Given the description of an element on the screen output the (x, y) to click on. 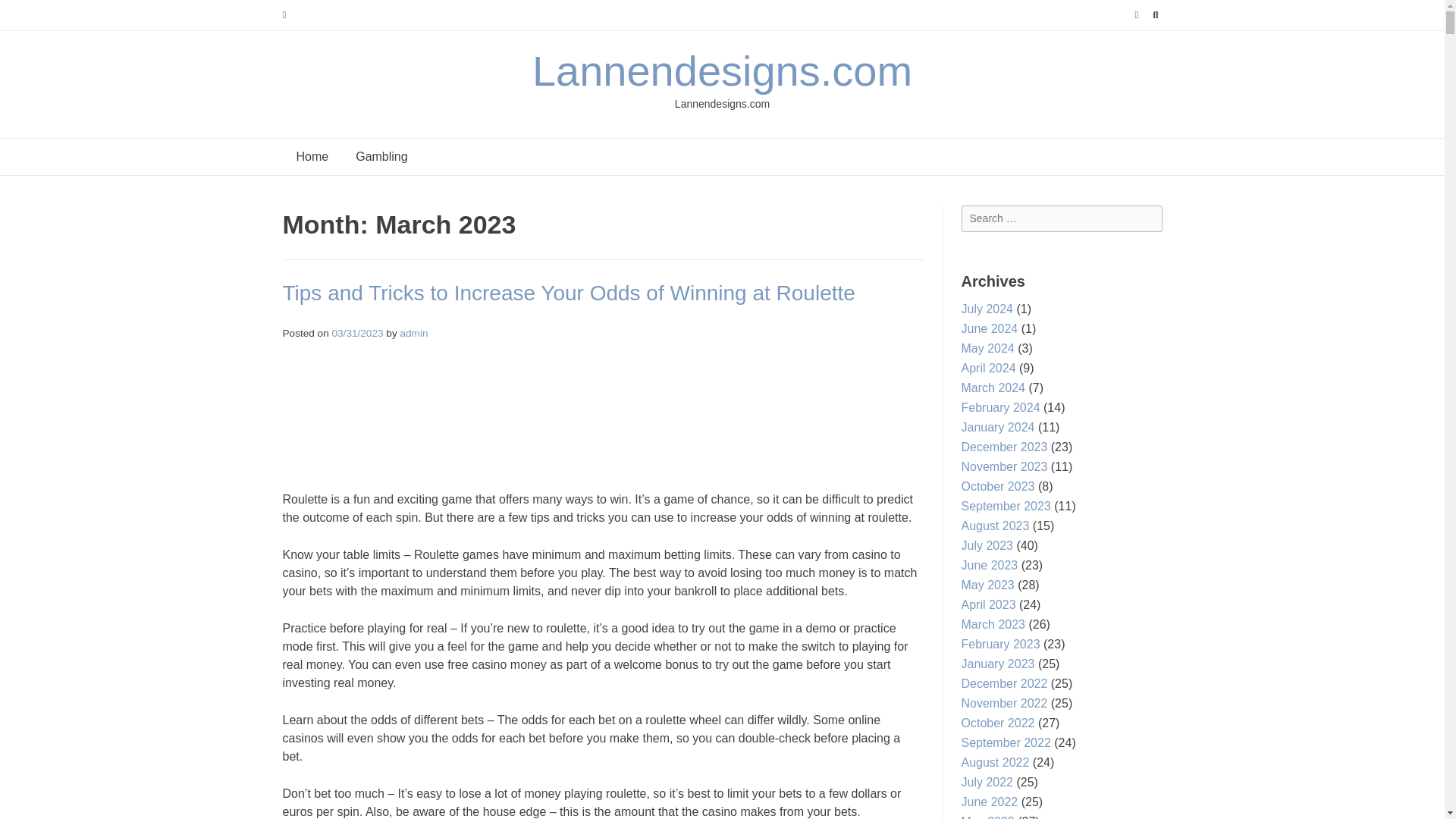
Search (27, 13)
Tips and Tricks to Increase Your Odds of Winning at Roulette (568, 292)
Lannendesigns.com (722, 70)
admin (413, 333)
Gambling (381, 156)
Home (312, 156)
